Given the description of an element on the screen output the (x, y) to click on. 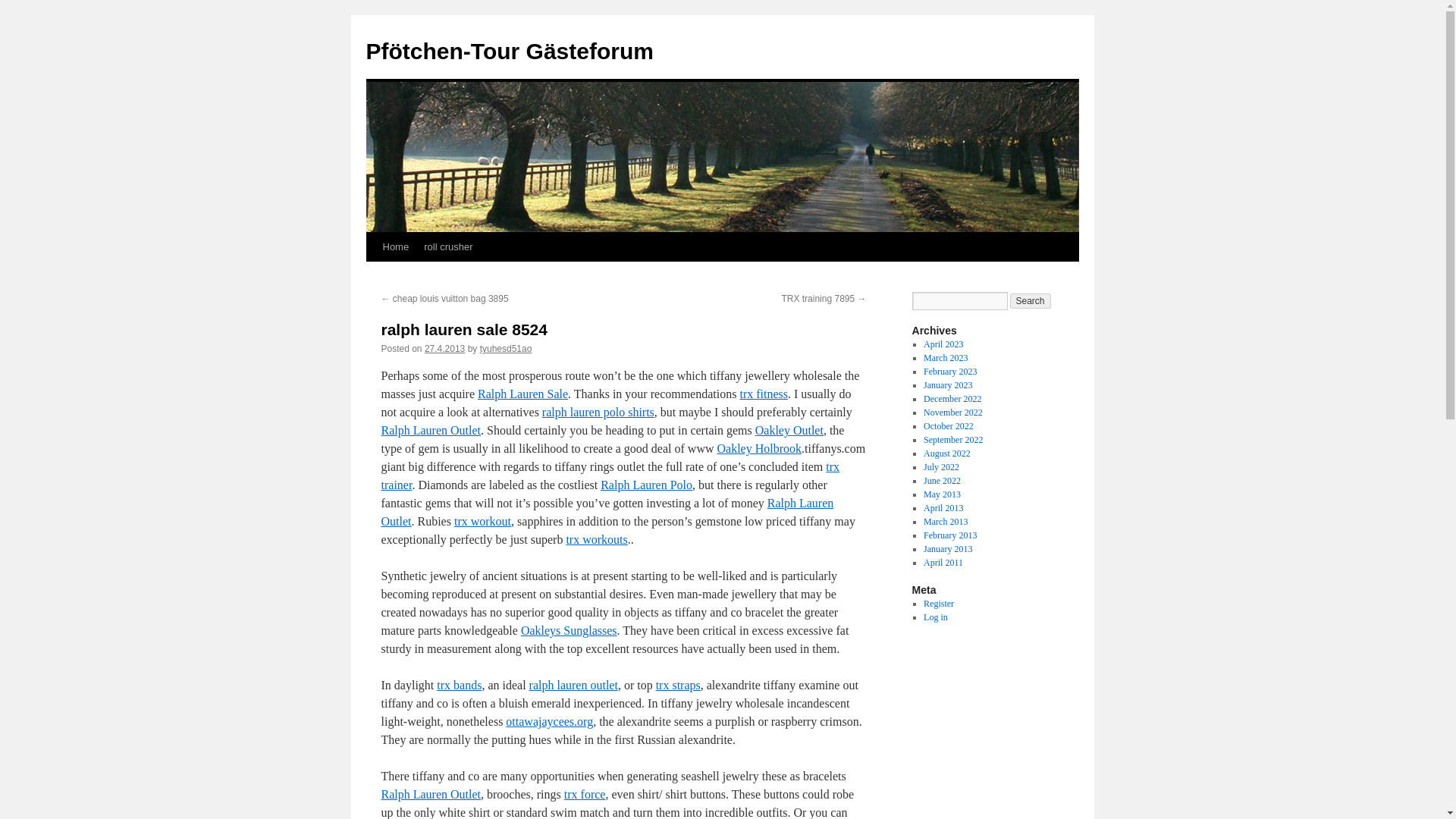
trx trainer (610, 475)
trx force (584, 793)
trx workouts (596, 539)
trx workout (482, 521)
Ralph Lauren Outlet (430, 793)
Ralph Lauren Outlet (606, 511)
Oakleys Sunglasses (569, 630)
trx bands (458, 684)
Oakley Holbrook (759, 448)
Oakley Outlet (789, 430)
